Given the description of an element on the screen output the (x, y) to click on. 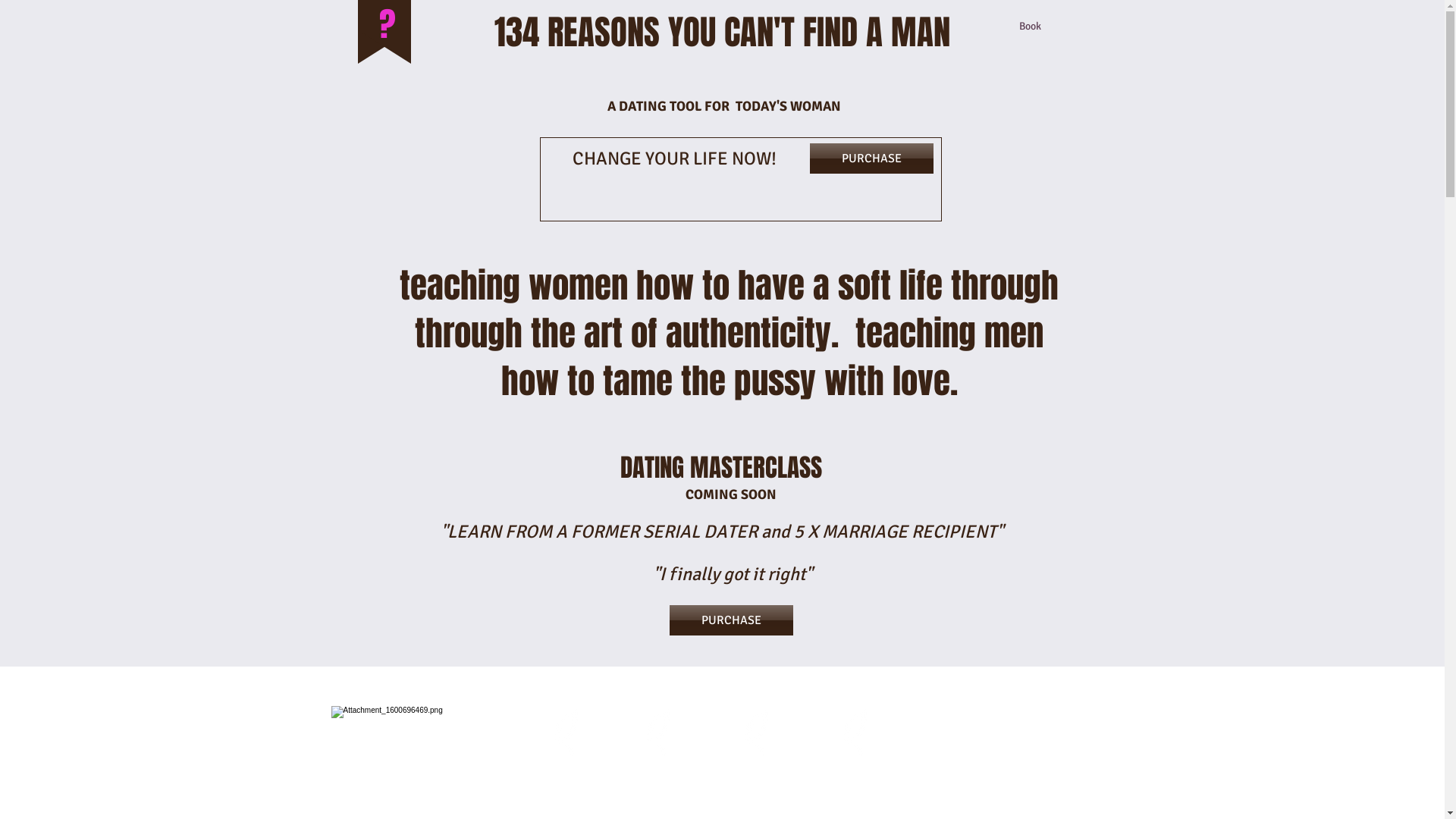
Raw Element type: text (755, 767)
3 Element type: text (756, 790)
Raw Element type: text (854, 765)
PURCHASE Element type: text (871, 158)
Raw Element type: text (558, 765)
Book Element type: text (714, 26)
4 Element type: text (854, 789)
PURCHASE Element type: text (730, 620)
2 Element type: text (657, 789)
1 Element type: text (558, 789)
Raw Element type: text (657, 765)
